Given the description of an element on the screen output the (x, y) to click on. 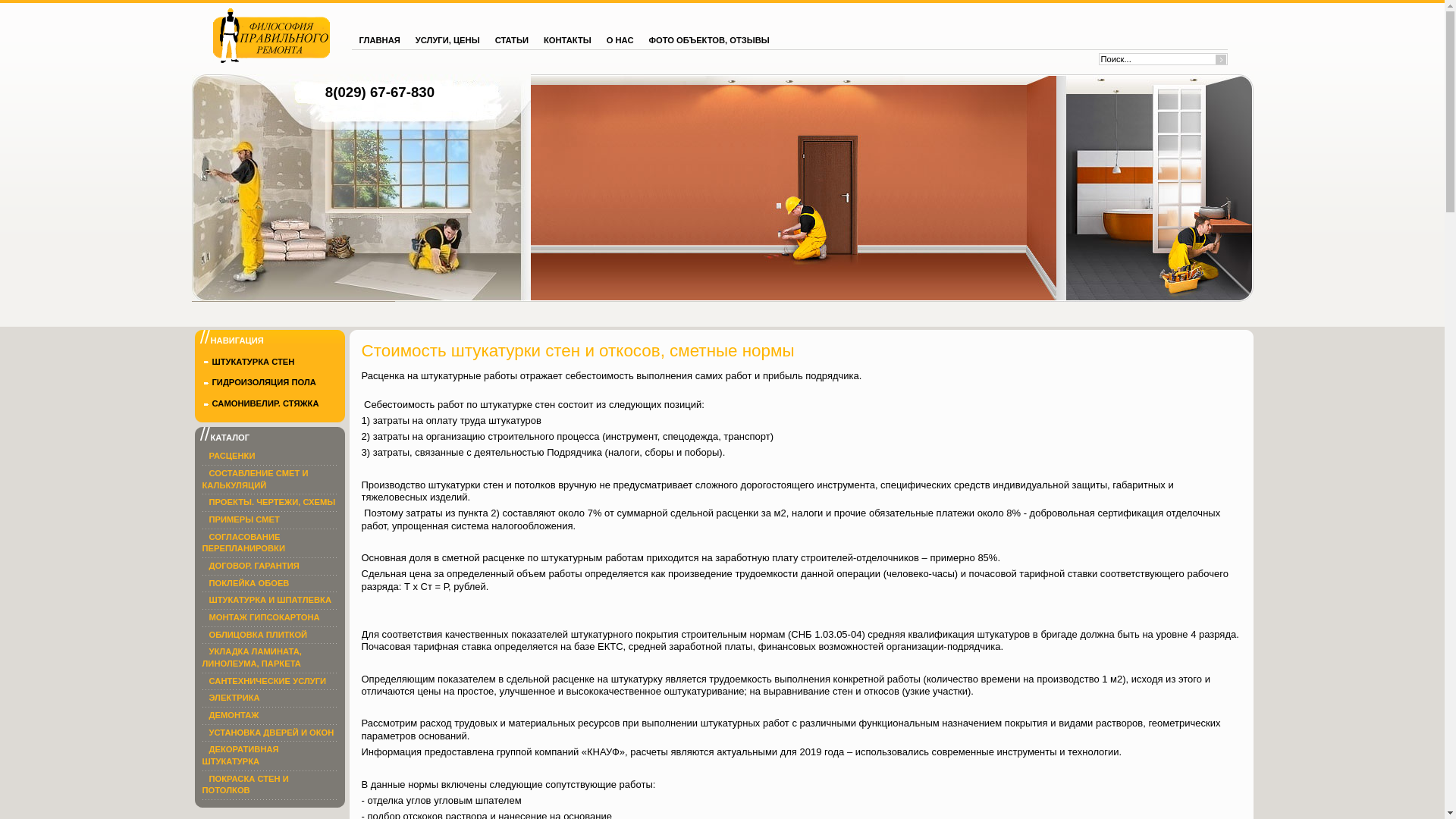
  8(029) 67-67-830   Element type: text (379, 92)
https://good-remont.by Element type: text (271, 35)
